Given the description of an element on the screen output the (x, y) to click on. 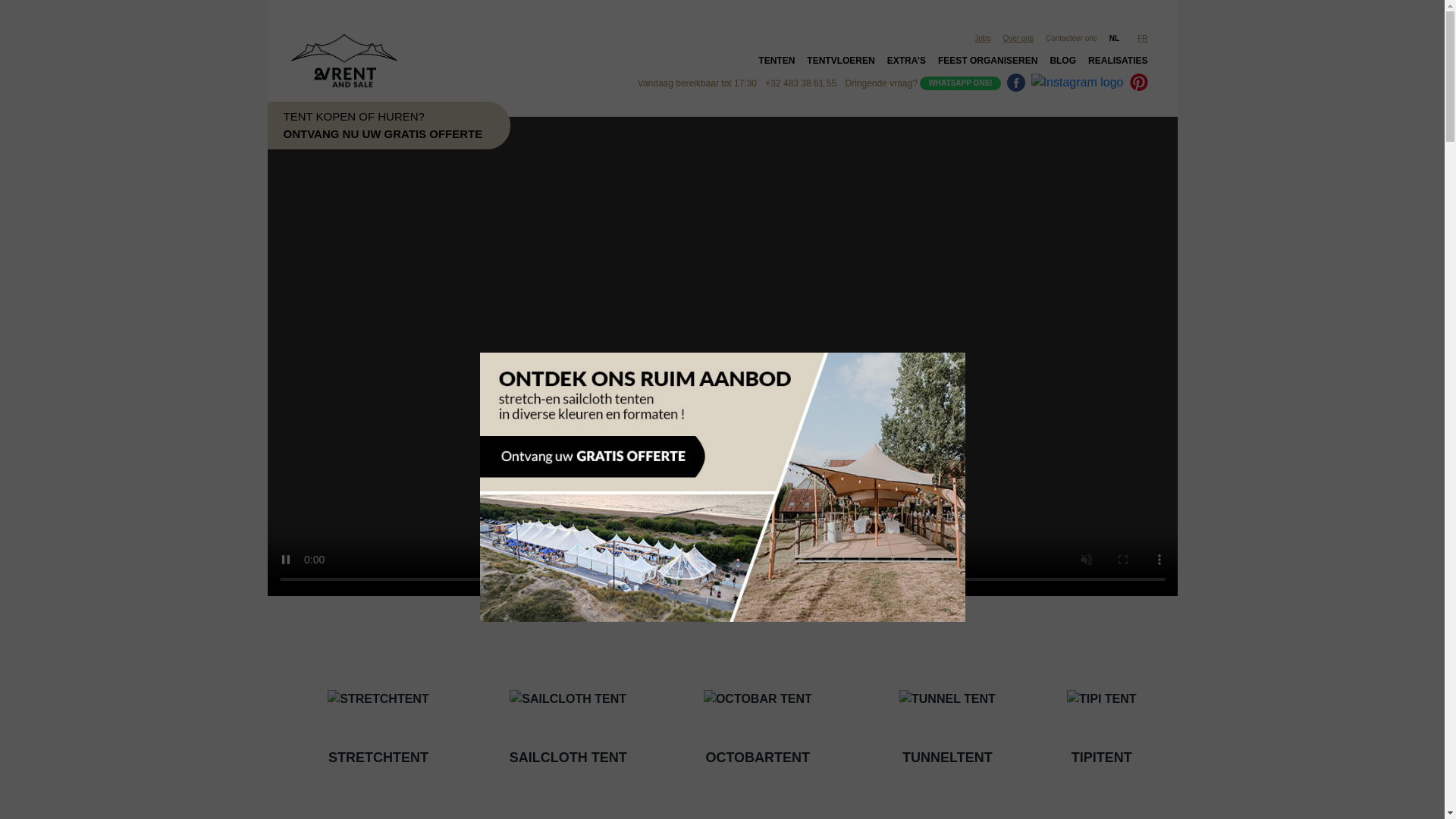
Over ons Element type: text (1017, 38)
TENTVLOEREN Element type: text (840, 63)
TIPITENT Element type: text (1101, 712)
WHATSAPP ONS! Element type: text (959, 82)
OCTOBARTENT Element type: text (757, 712)
TENT KOPEN OF HUREN?
ONTVANG NU UW GRATIS OFFERTE Element type: text (369, 125)
Contacteer ons Element type: text (1071, 38)
TUNNELTENT Element type: text (947, 712)
NL Element type: text (1117, 38)
REALISATIES Element type: text (1117, 63)
SAILCLOTH TENT Element type: text (567, 712)
BLOG Element type: text (1062, 63)
Jobs Element type: text (982, 38)
+32 483 38 61 55 Element type: text (800, 83)
STRETCHTENT Element type: text (378, 712)
TENTEN Element type: text (776, 63)
FR Element type: text (1145, 38)
FEEST ORGANISEREN Element type: text (987, 63)
